Given the description of an element on the screen output the (x, y) to click on. 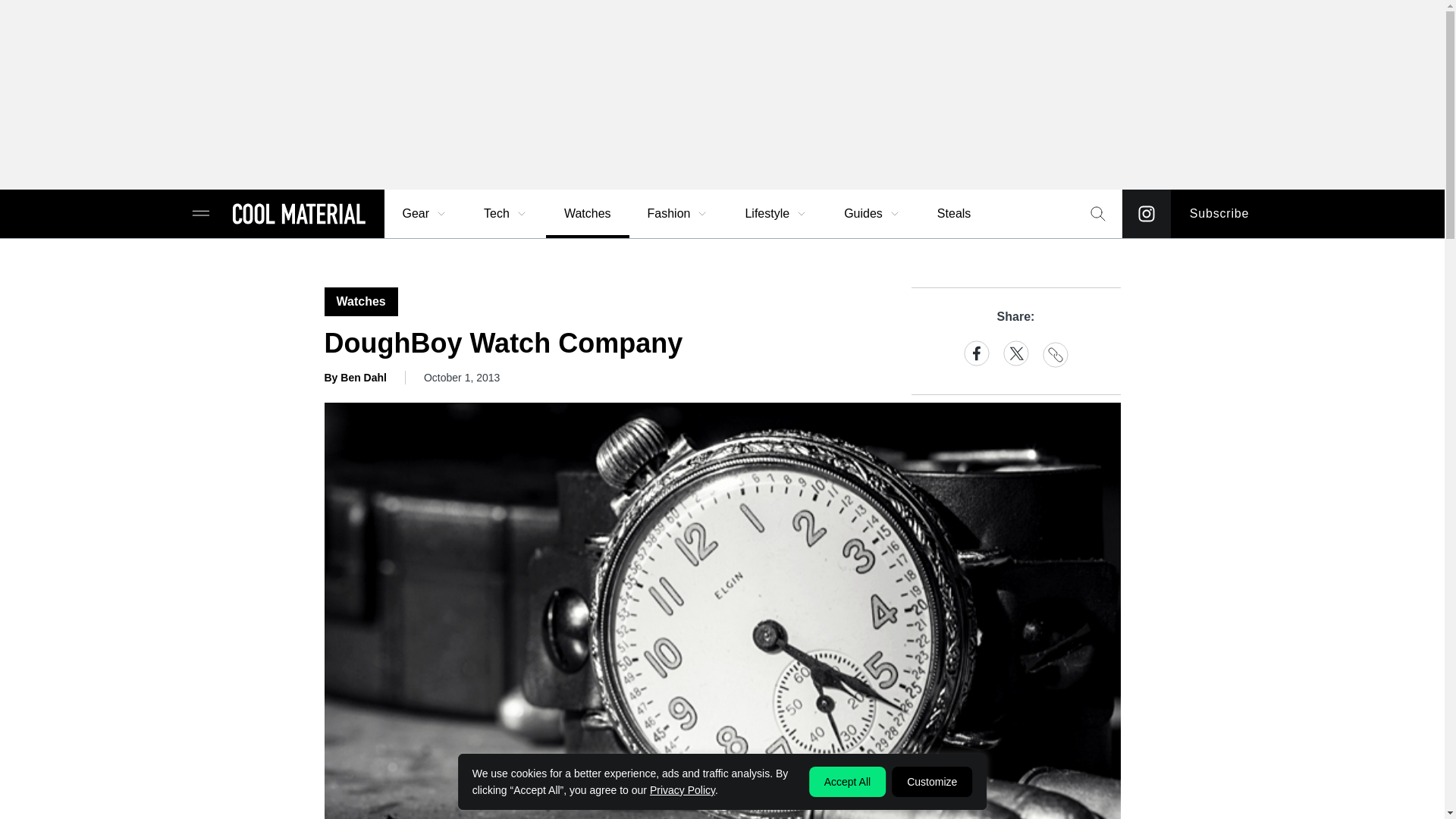
Gear (424, 213)
Customize (931, 781)
Watches (587, 213)
Lifestyle (775, 213)
Privacy Policy (681, 789)
Fashion (677, 213)
Tech (505, 213)
Accept All (847, 781)
